Given the description of an element on the screen output the (x, y) to click on. 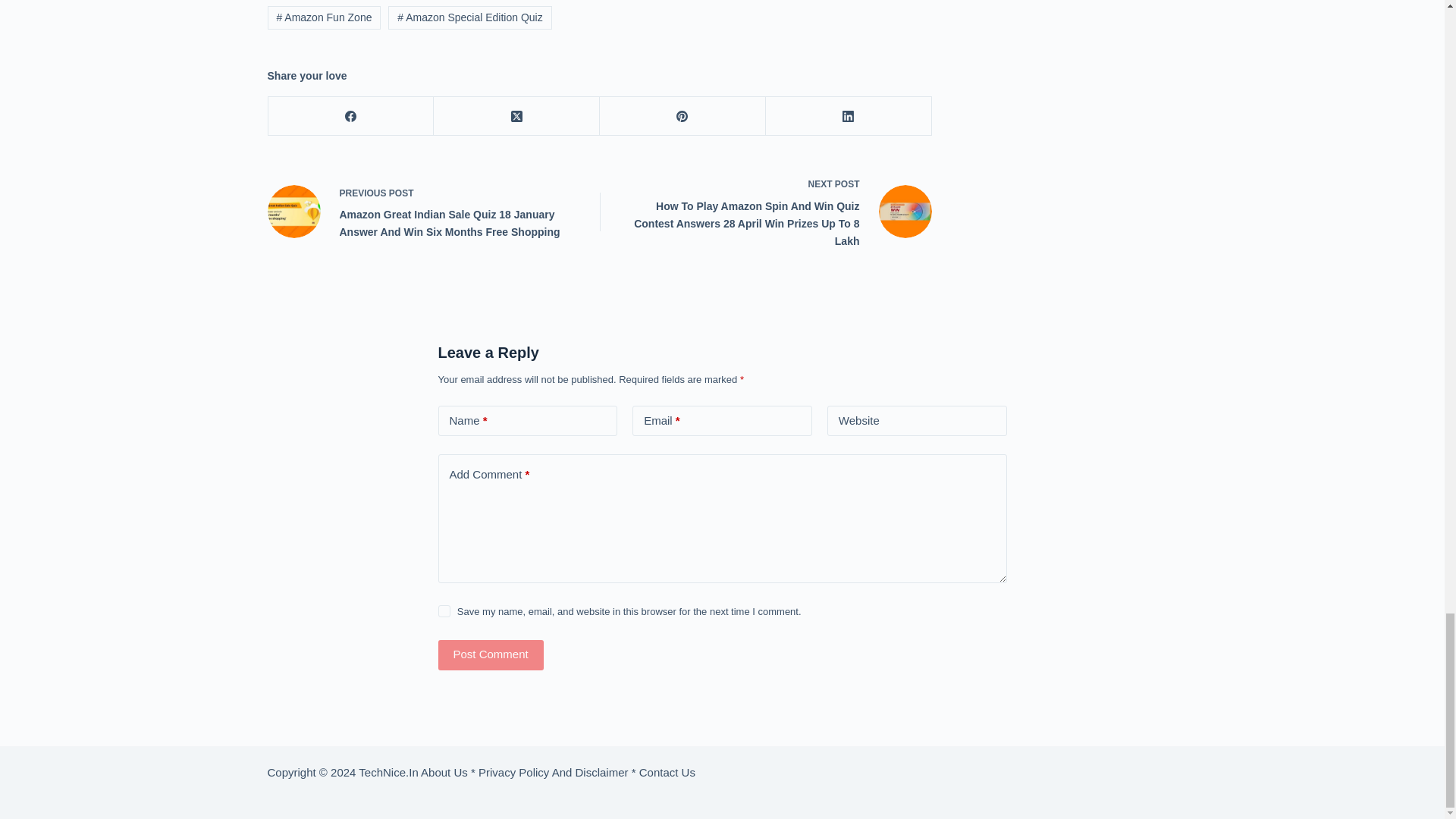
yes (443, 611)
